Given the description of an element on the screen output the (x, y) to click on. 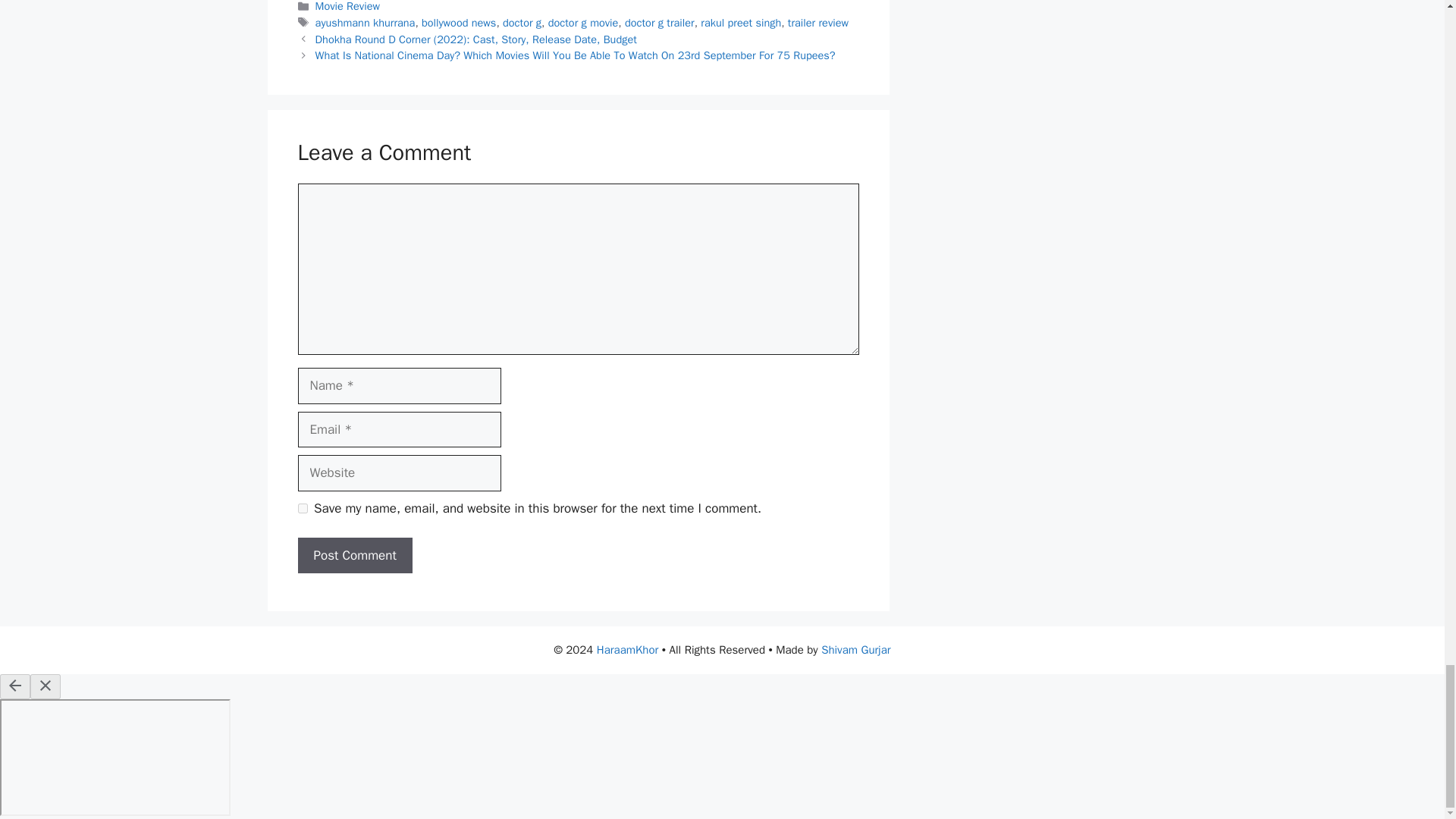
Post Comment (354, 555)
yes (302, 508)
